Given the description of an element on the screen output the (x, y) to click on. 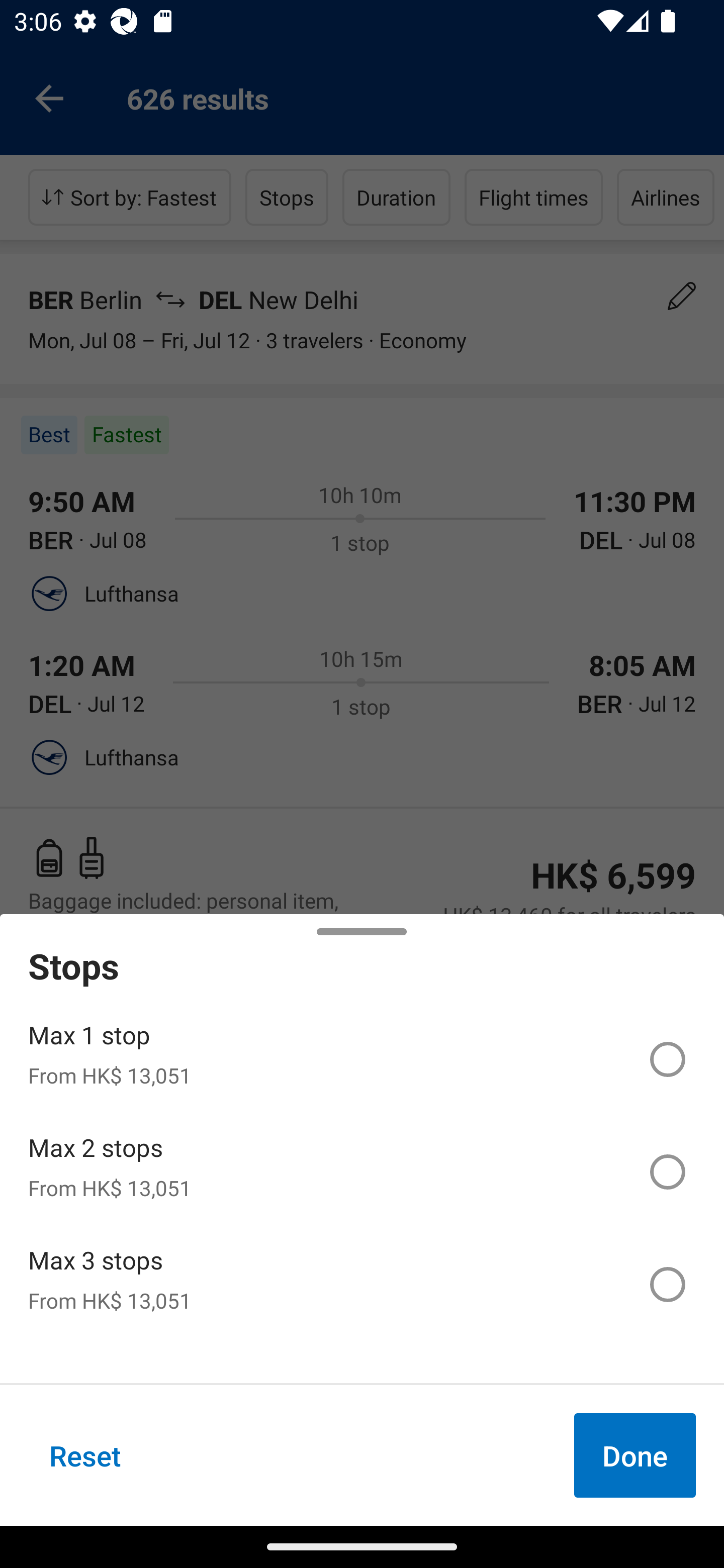
Max 1 stop From HK$ 13,051 (362, 1059)
Max 2 stops From HK$ 13,051 (362, 1171)
Max 3 stops From HK$ 13,051 (362, 1283)
Reset (85, 1454)
Done (634, 1454)
